Given the description of an element on the screen output the (x, y) to click on. 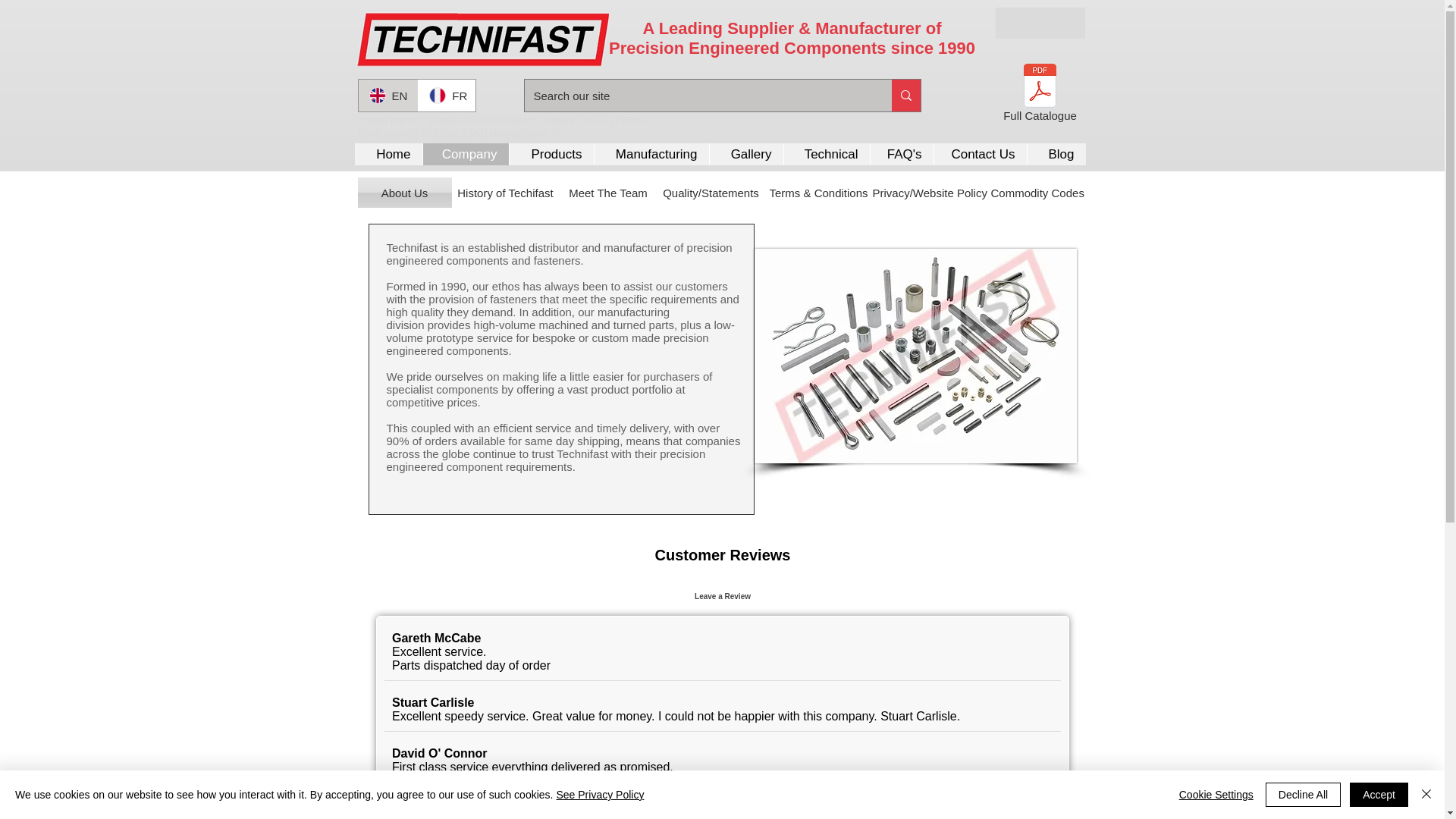
Precision Engineered Components since 1990 (791, 47)
Full Catalogue (1039, 95)
Gallery (745, 154)
Welcome to Technifast Ltd (481, 39)
Decline All (1302, 794)
Home (388, 154)
Commodity Codes (1036, 192)
Full Catalogue (1039, 95)
See Privacy Policy (599, 794)
Products (550, 154)
Blog (1056, 154)
Meet The Team (608, 192)
History of Techifast (505, 192)
Company (465, 154)
